Given the description of an element on the screen output the (x, y) to click on. 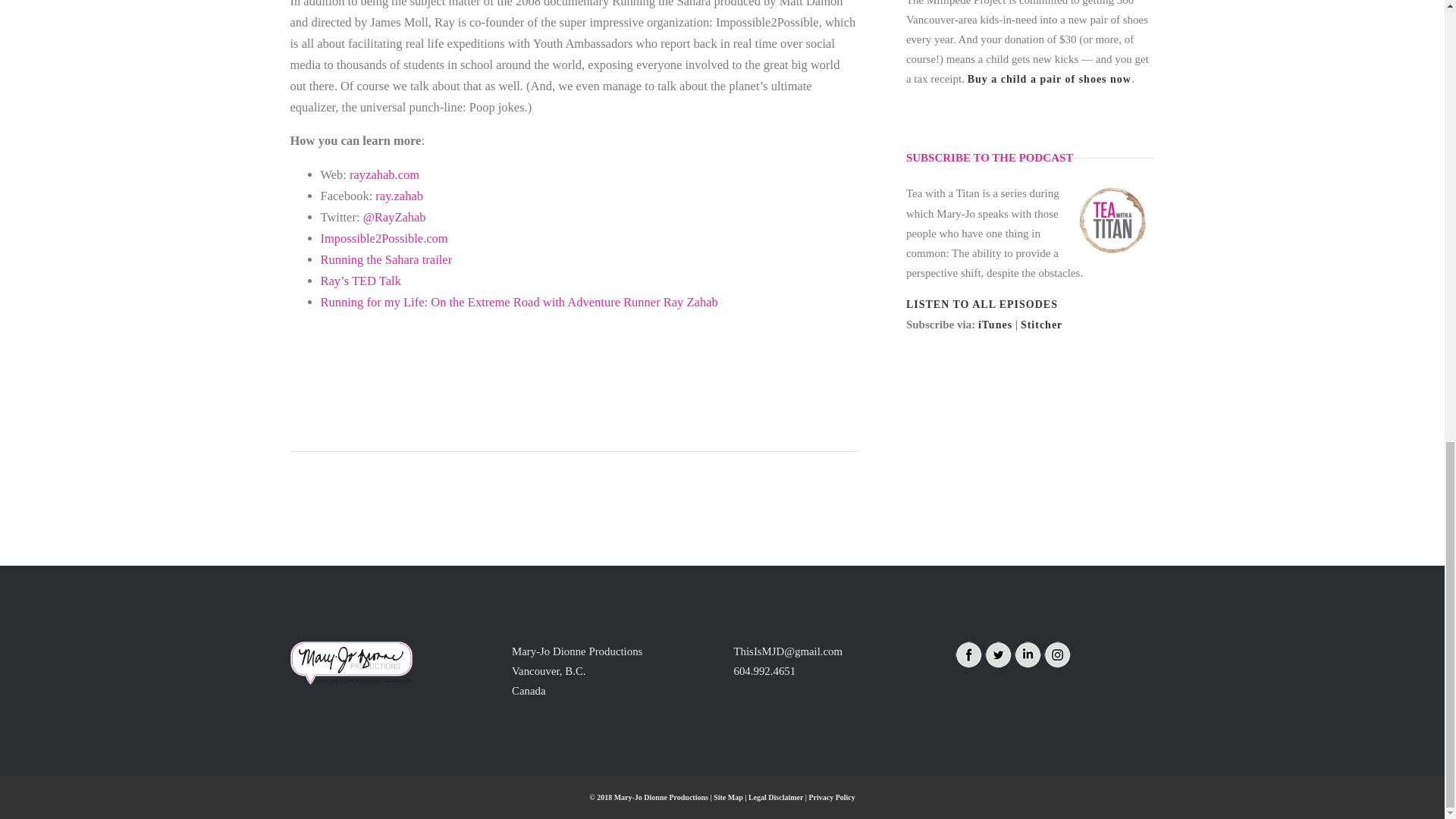
Buy a child a pair of shoes now (1049, 79)
Running the Sahara trailer (385, 259)
iTunes (994, 324)
ray.zahab (399, 196)
rayzahab.com (384, 174)
Impossible2Possible.com (383, 237)
Stitcher (1041, 324)
LISTEN TO ALL EPISODES (981, 304)
